Given the description of an element on the screen output the (x, y) to click on. 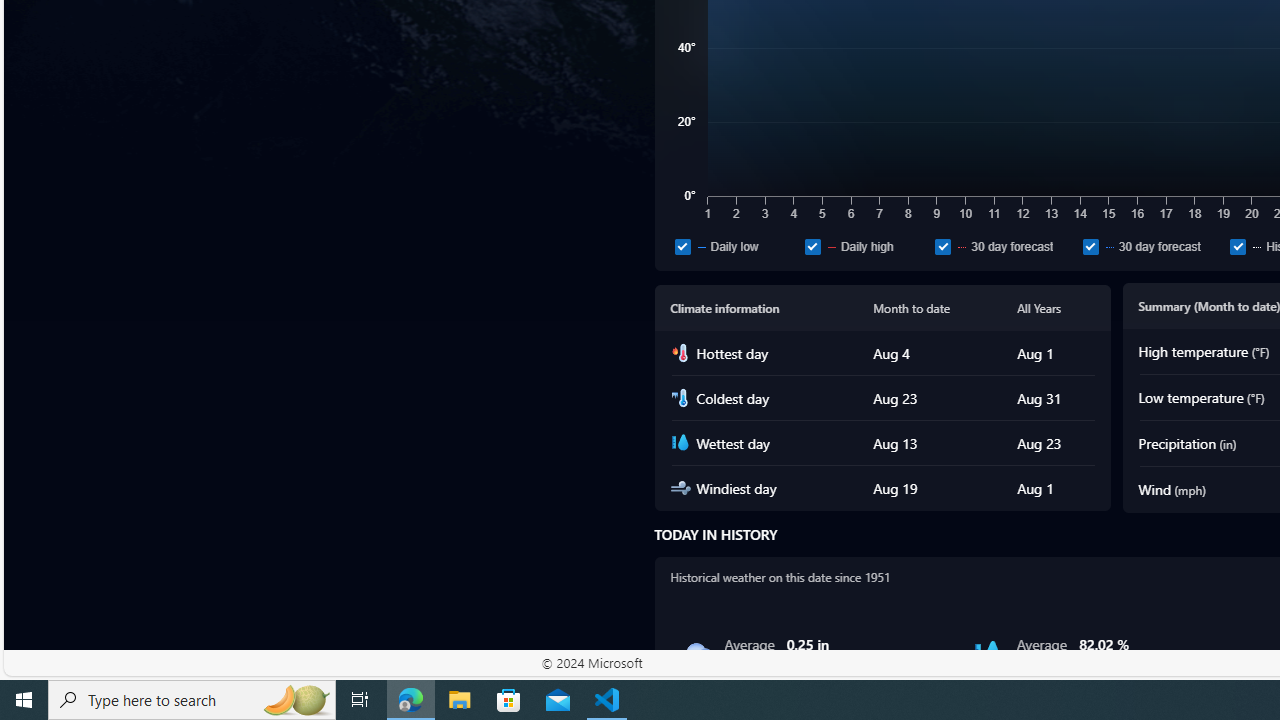
Humidity (987, 654)
Historical daily temperature (1238, 246)
Rain (695, 654)
Daily high (811, 246)
Daily low (735, 246)
Daily low (682, 246)
Daily high (865, 246)
30 day forecast (1151, 246)
30 day forecast (1090, 246)
